Given the description of an element on the screen output the (x, y) to click on. 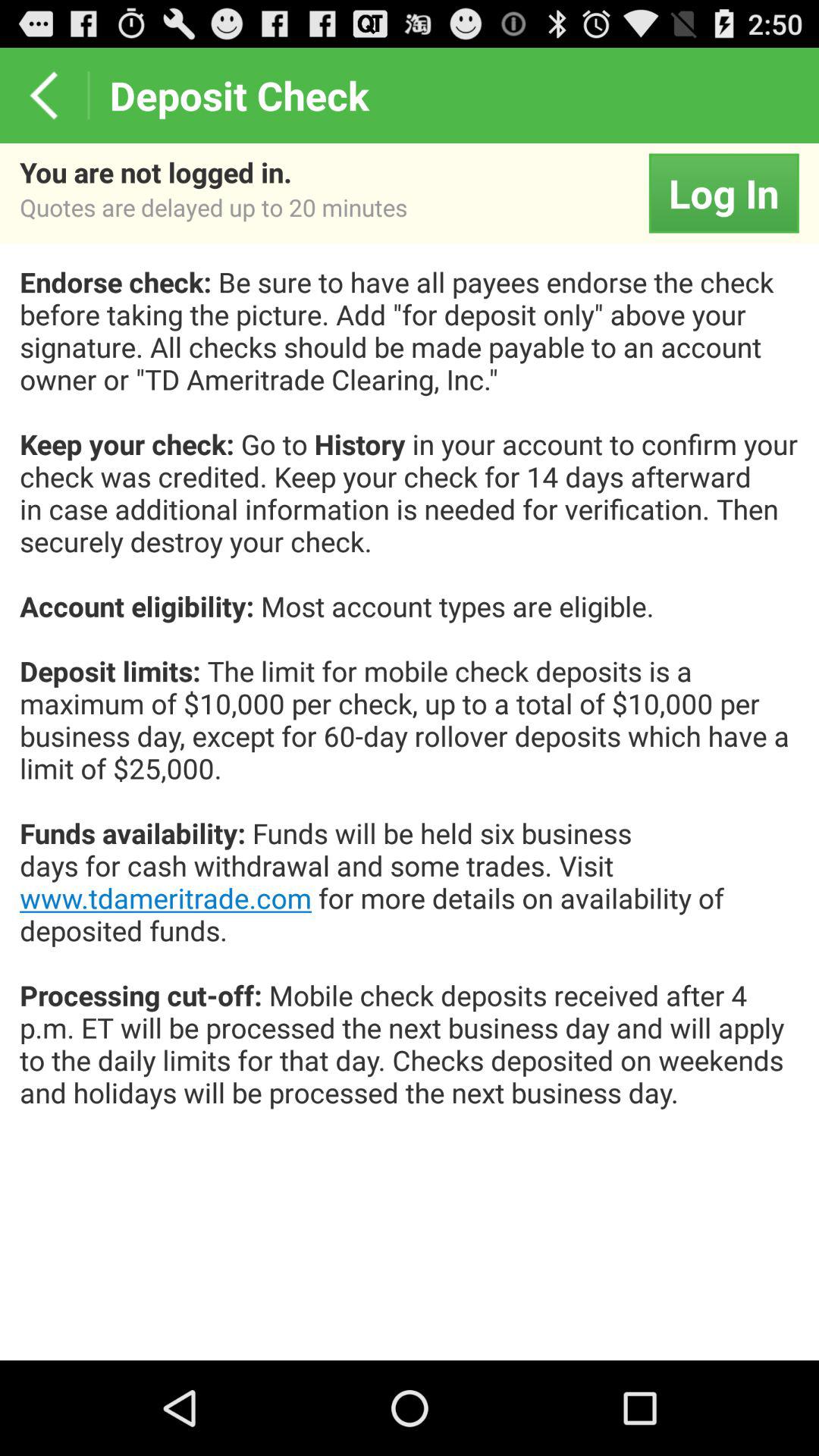
tap item to the left of the deposit check icon (43, 95)
